Given the description of an element on the screen output the (x, y) to click on. 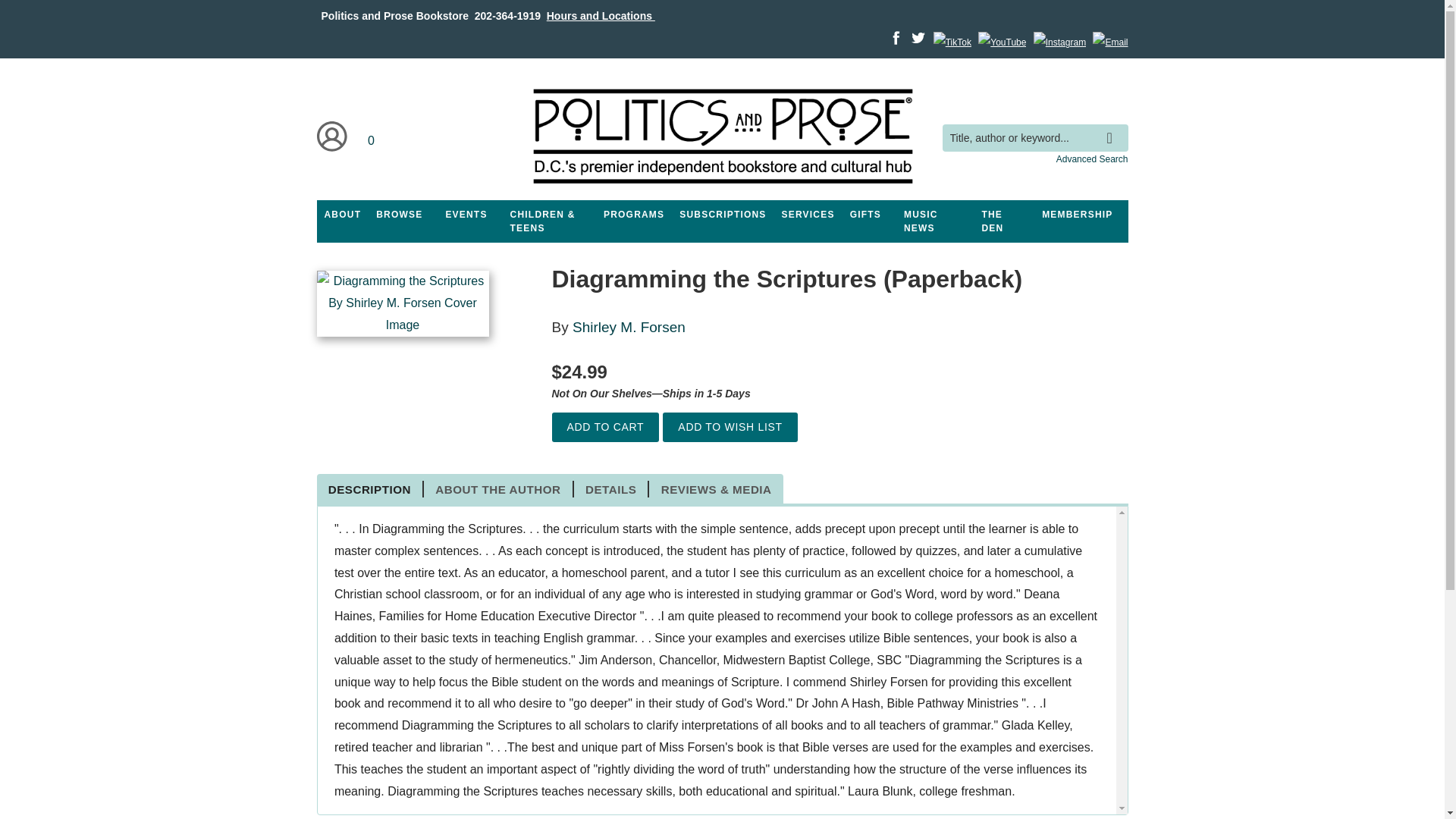
EVENTS (465, 214)
SERVICES (808, 214)
Add to Wish List (729, 427)
See information about our programs (633, 214)
search (1112, 126)
PROGRAMS (633, 214)
ABOUT (343, 214)
SUBSCRIPTIONS (722, 214)
Browse our shelves (398, 214)
